Given the description of an element on the screen output the (x, y) to click on. 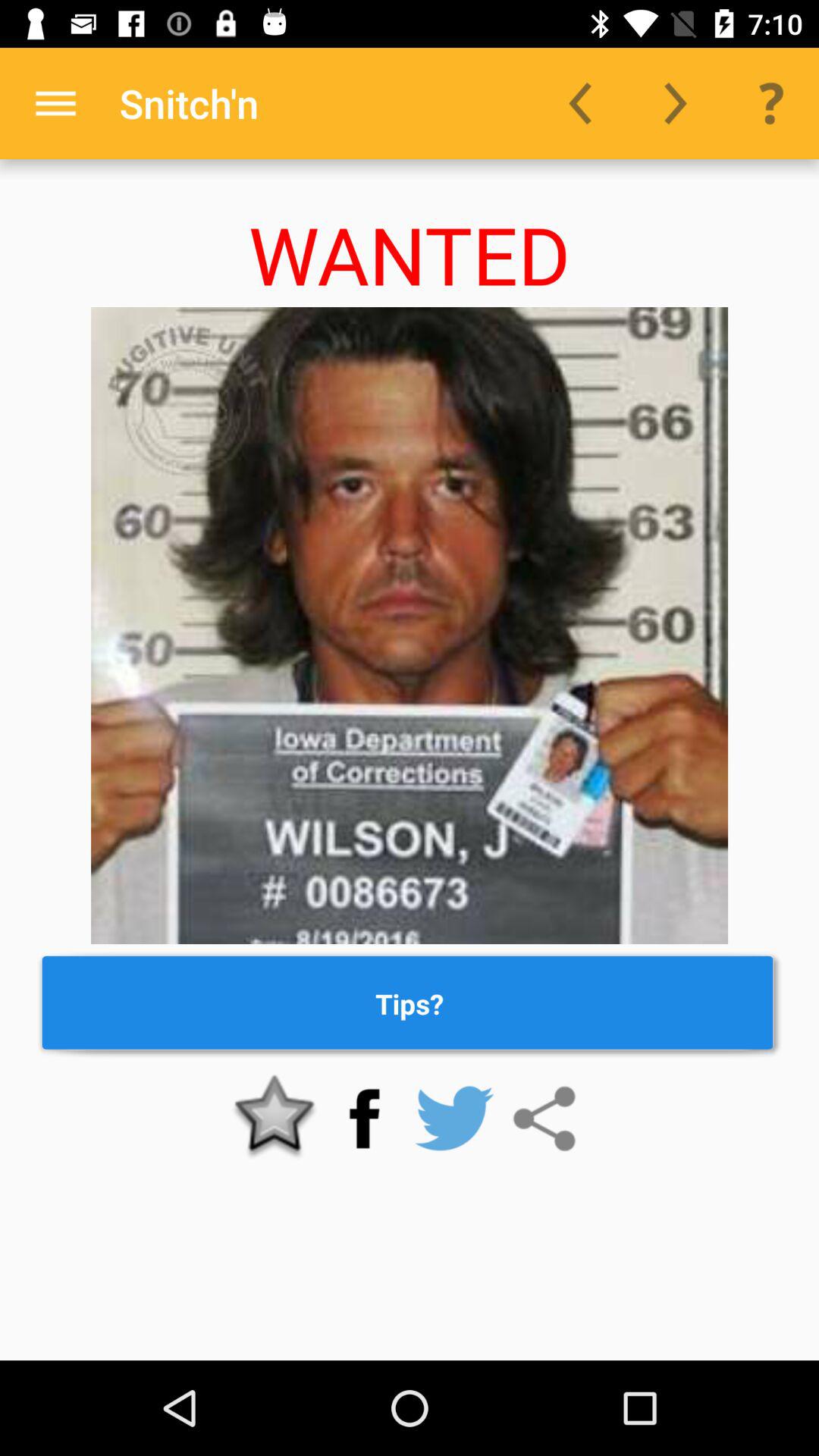
add to favorites (274, 1118)
